Given the description of an element on the screen output the (x, y) to click on. 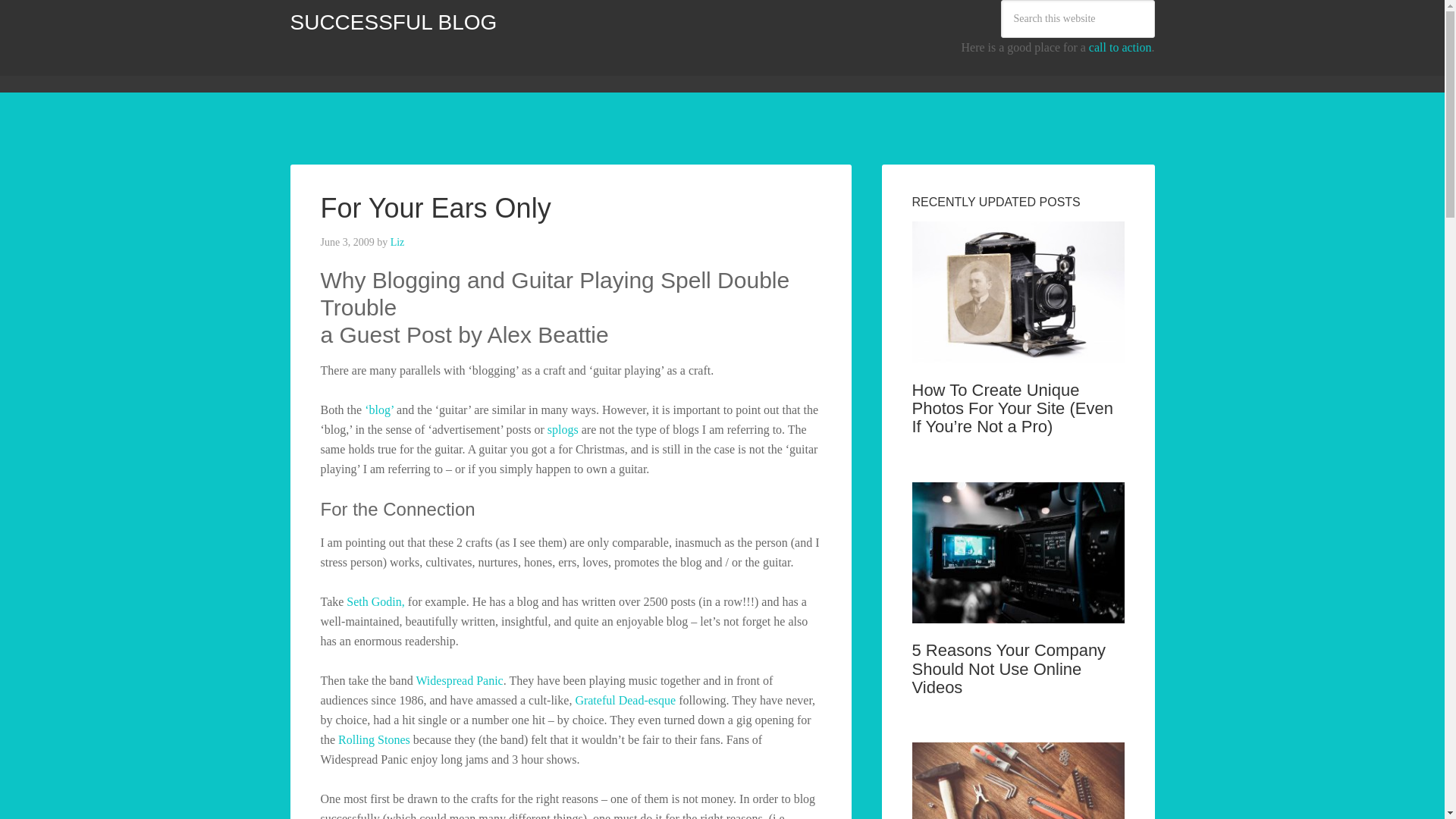
For Your Ears Only (435, 207)
Seth Godin, (375, 601)
Grateful Dead-esque (625, 699)
Rolling Stones (373, 739)
Stay Tuned (707, 68)
Community (384, 68)
SUCCESSFUL BLOG (392, 22)
Widespread Panic (458, 680)
Home (315, 68)
About (452, 68)
